Given the description of an element on the screen output the (x, y) to click on. 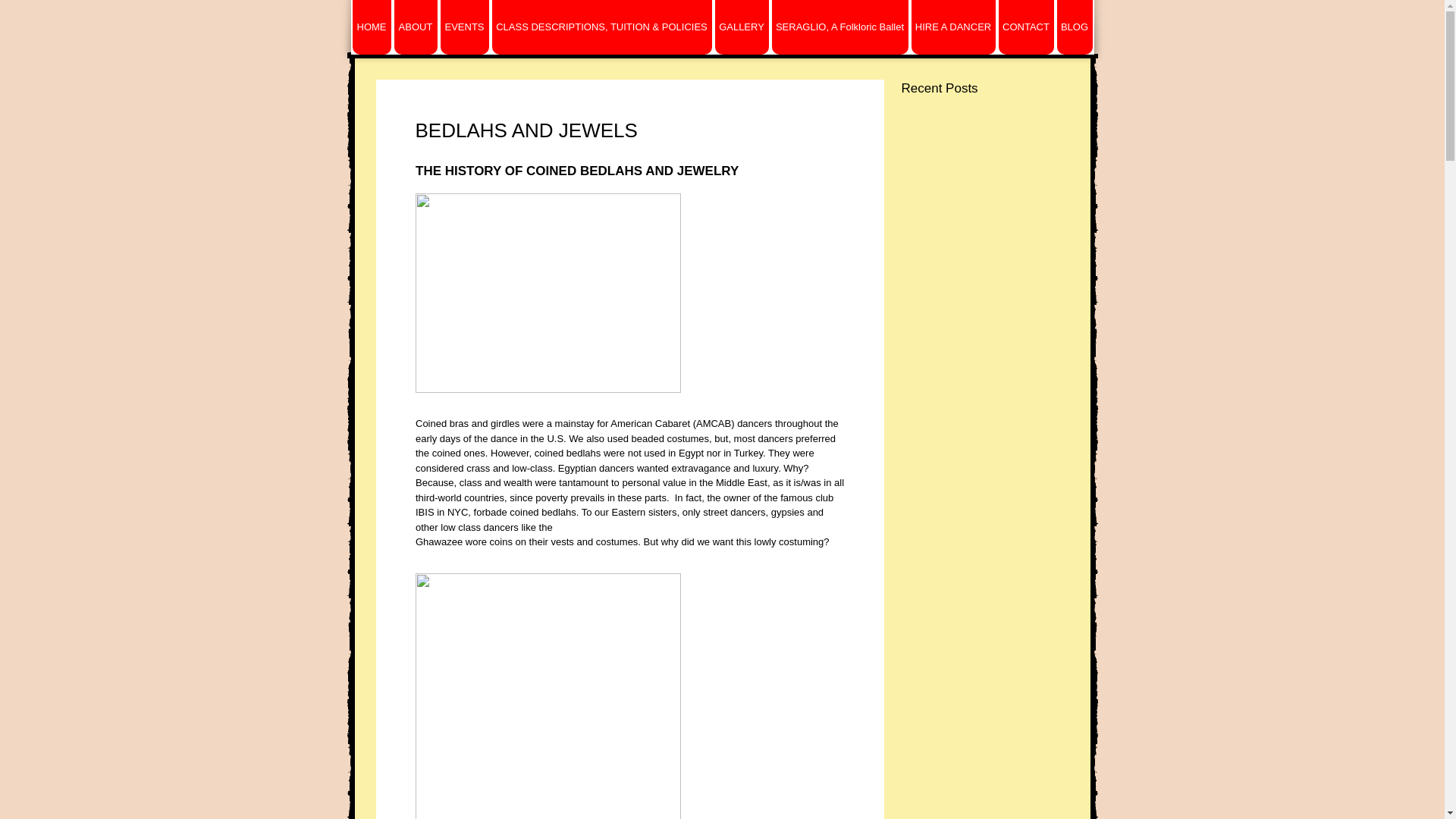
HIRE A DANCER (953, 27)
GALLERY (741, 27)
CONTACT (1024, 27)
SERAGLIO, A Folkloric Ballet (839, 27)
EVENTS (463, 27)
